Given the description of an element on the screen output the (x, y) to click on. 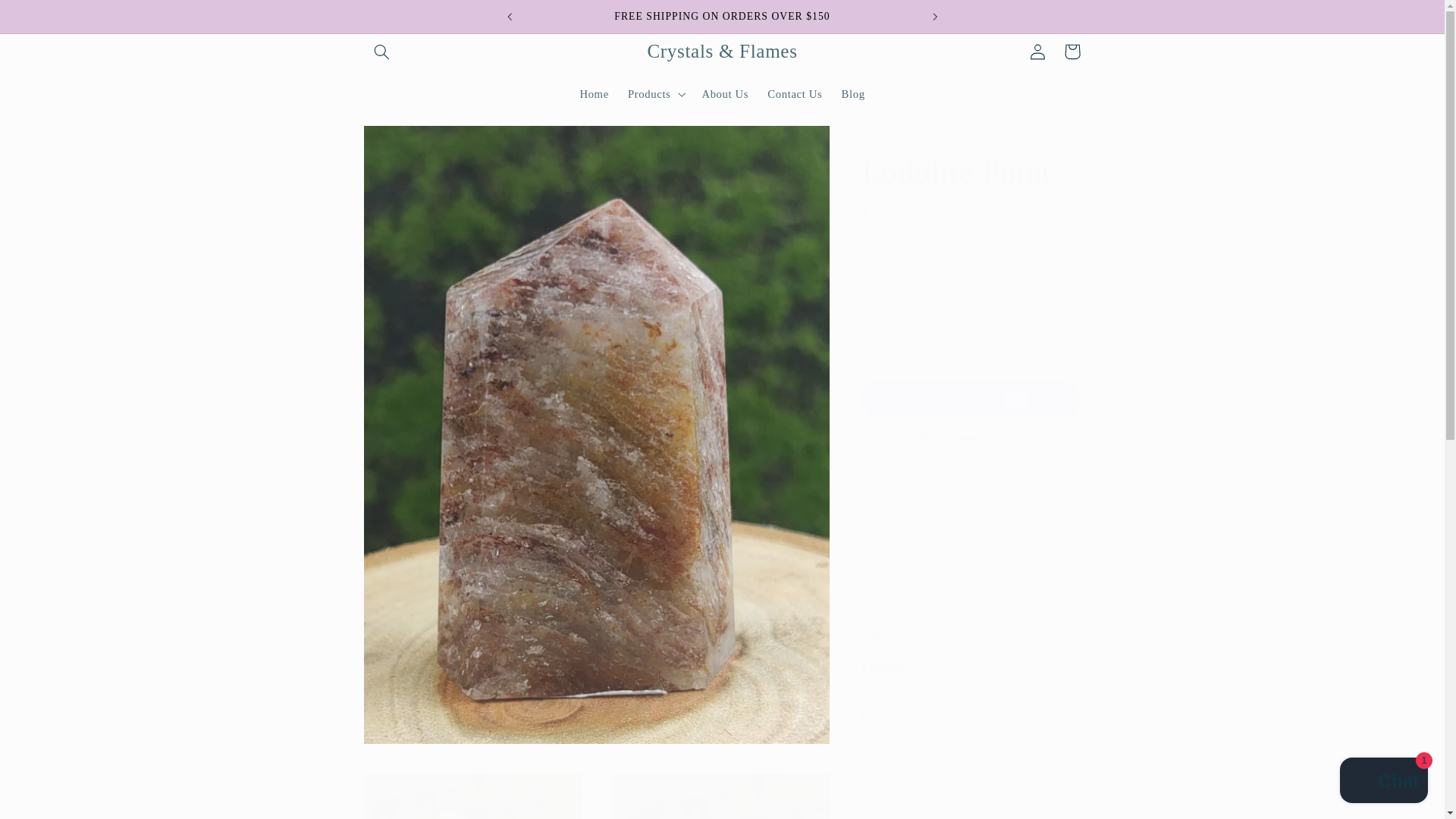
Open media 2 in modal (472, 796)
1 (915, 297)
Shopify online store chat (1383, 781)
Skip to content (48, 18)
Open media 3 in modal (720, 796)
